Given the description of an element on the screen output the (x, y) to click on. 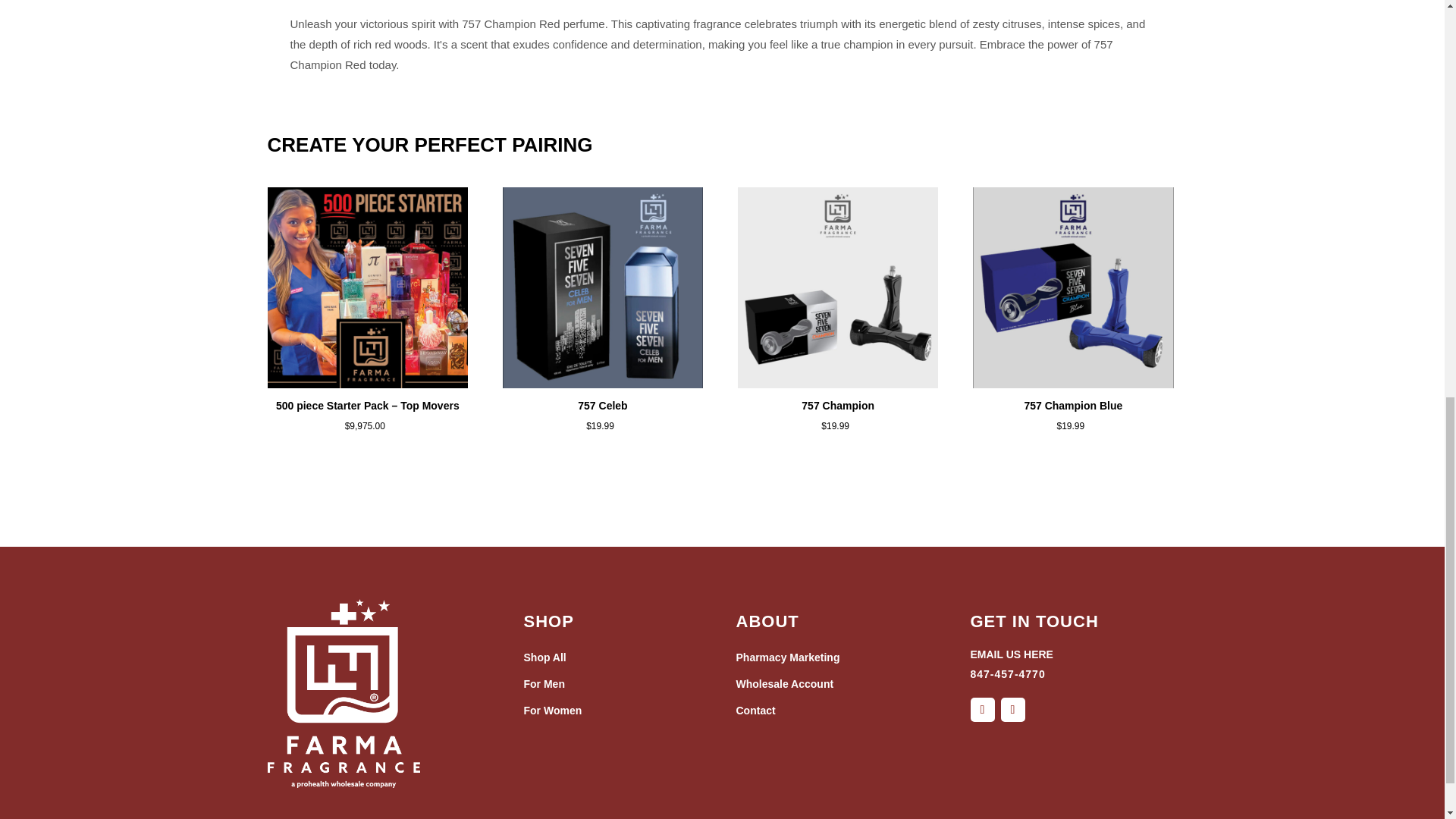
For Women (551, 710)
Shop All (544, 657)
For Men (543, 684)
Wholesale Account (783, 684)
Follow on Instagram (1013, 709)
Follow on Facebook (982, 709)
Pharmacy Marketing (787, 657)
